Given the description of an element on the screen output the (x, y) to click on. 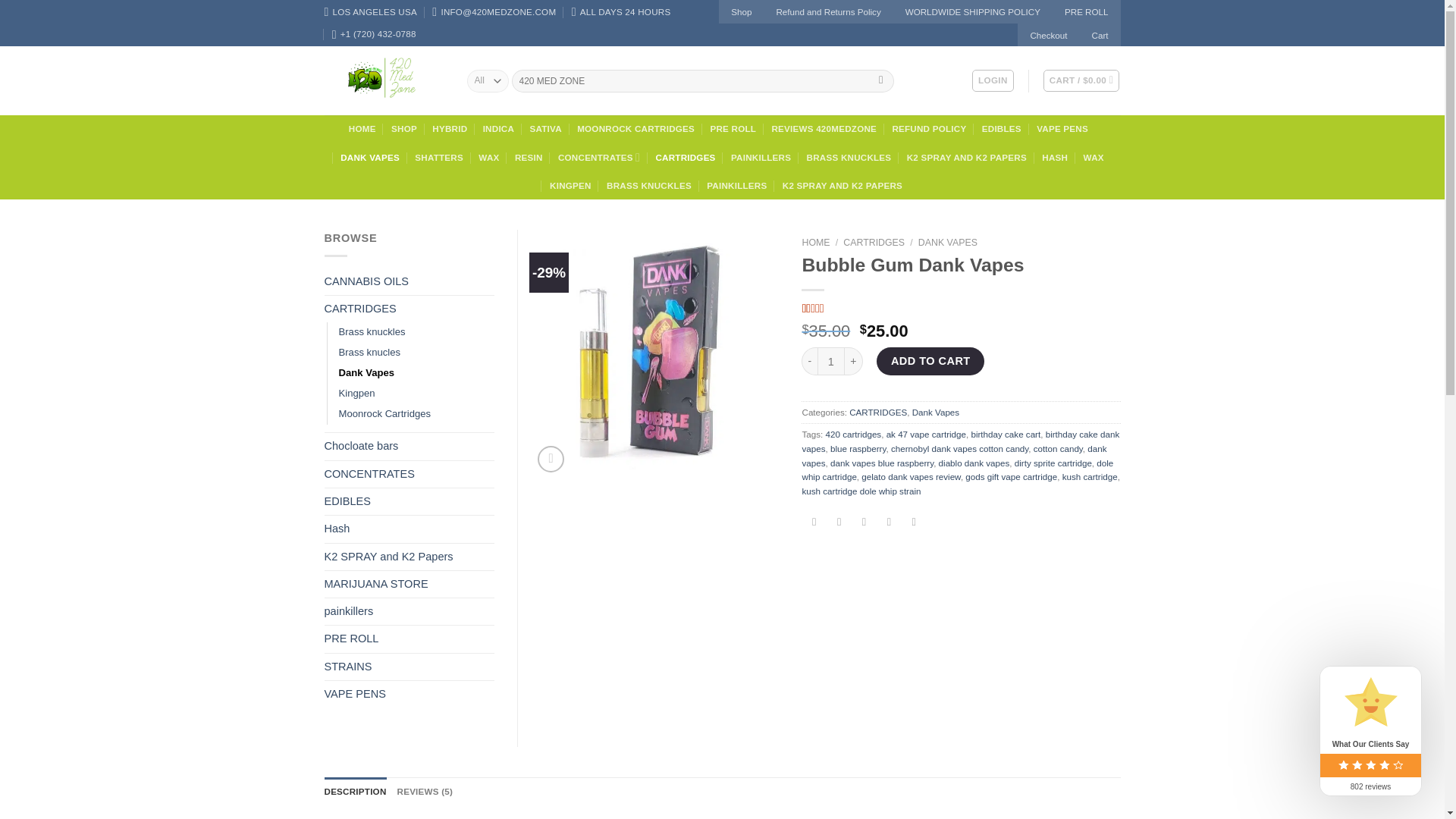
Checkout (1047, 34)
Cart (1081, 80)
WORLDWIDE SHIPPING POLICY (972, 11)
ALL DAYS 24 HOURS (621, 11)
Cart (1100, 34)
LOS ANGELES USA (370, 11)
PRE ROLL (1086, 11)
Email to a Friend (864, 522)
420 Med Zone - Legit Online Dispensary Worldwide (384, 80)
Los Angeles (370, 11)
Refund and Returns Policy (827, 11)
1 (830, 361)
Share on Twitter (839, 522)
Buy Bubble Gum Dank Vapes (653, 354)
Share on Facebook (814, 522)
